Given the description of an element on the screen output the (x, y) to click on. 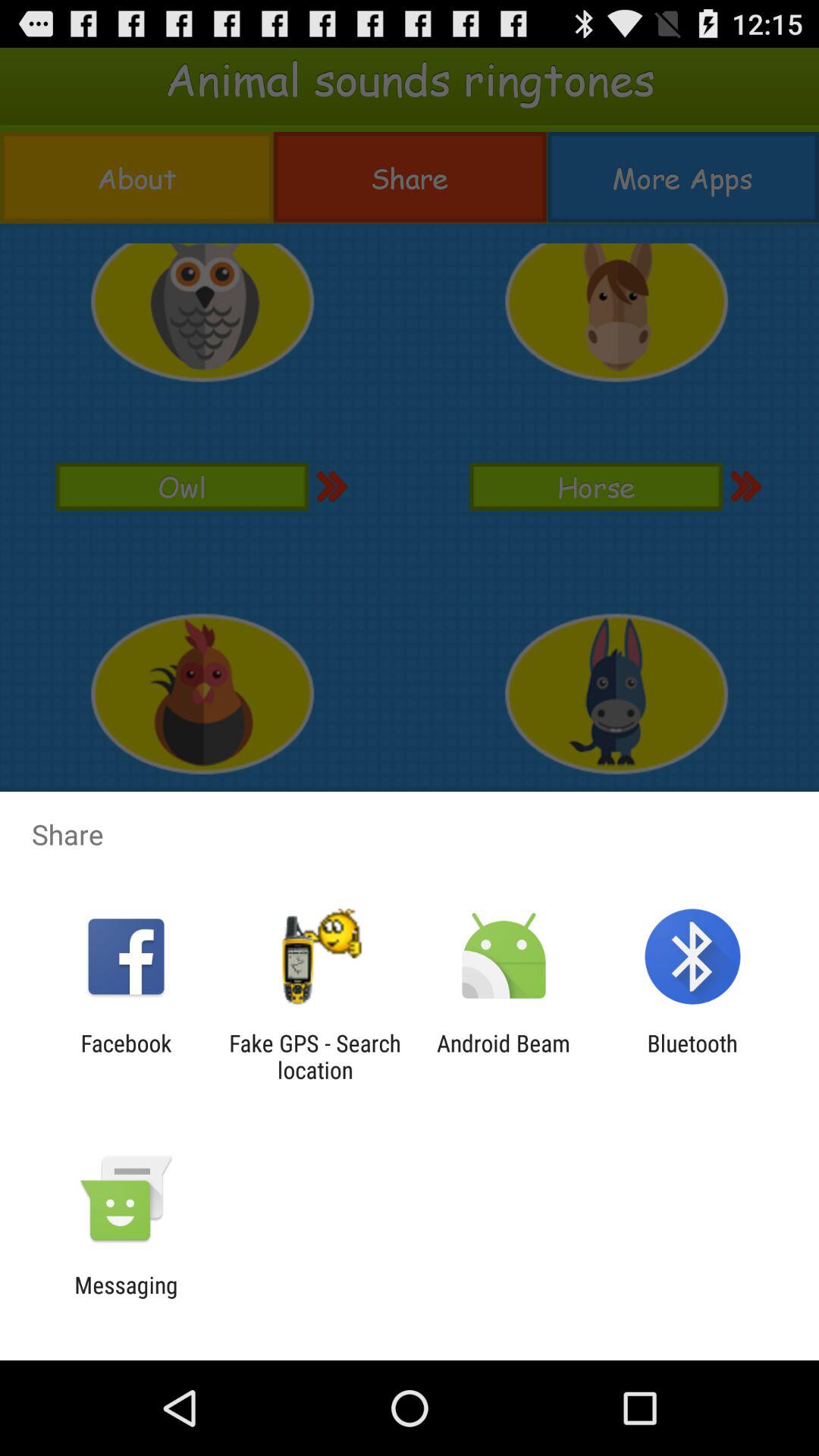
choose icon to the right of facebook app (314, 1056)
